Given the description of an element on the screen output the (x, y) to click on. 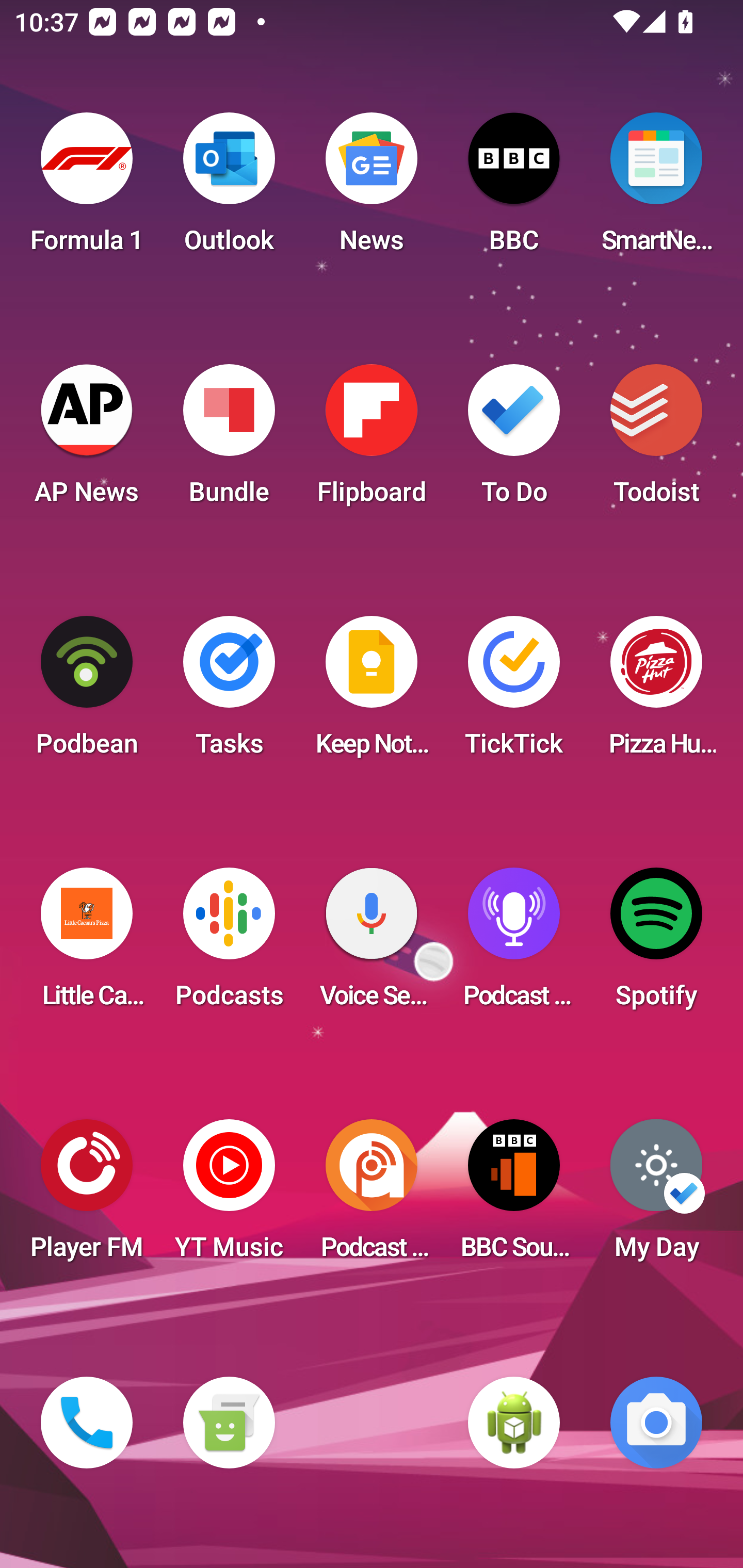
Formula 1 (86, 188)
Outlook (228, 188)
News (371, 188)
BBC (513, 188)
SmartNews (656, 188)
AP News (86, 440)
Bundle (228, 440)
Flipboard (371, 440)
To Do (513, 440)
Todoist (656, 440)
Podbean (86, 692)
Tasks (228, 692)
Keep Notes (371, 692)
TickTick (513, 692)
Pizza Hut HK & Macau (656, 692)
Little Caesars Pizza (86, 943)
Podcasts (228, 943)
Voice Search (371, 943)
Podcast Player (513, 943)
Spotify (656, 943)
Player FM (86, 1195)
YT Music (228, 1195)
Podcast Addict (371, 1195)
BBC Sounds (513, 1195)
My Day (656, 1195)
Phone (86, 1422)
Messaging (228, 1422)
WebView Browser Tester (513, 1422)
Camera (656, 1422)
